Given the description of an element on the screen output the (x, y) to click on. 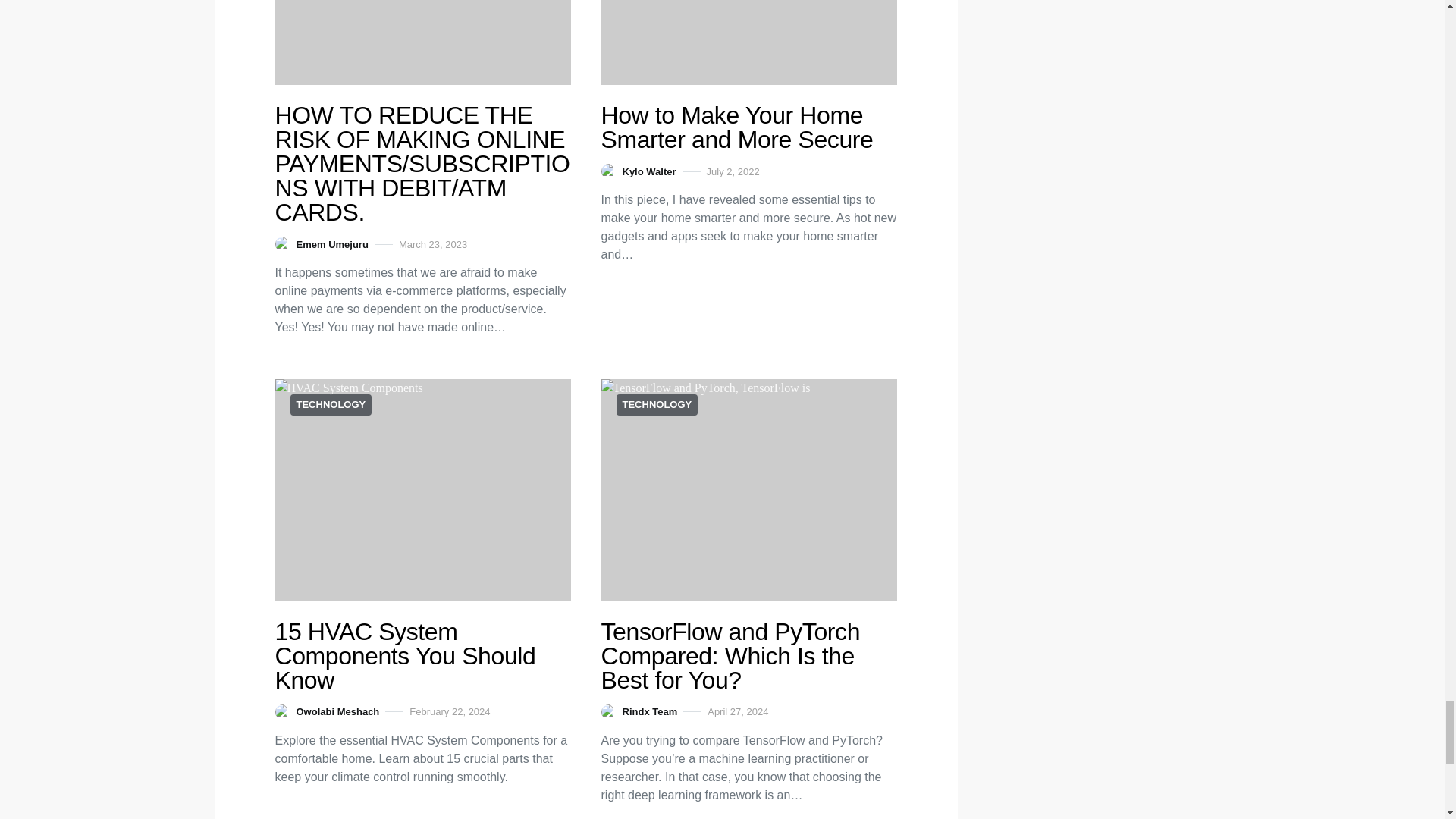
Software Sales Recruiters (422, 42)
Software Sales Recruiters (747, 42)
View all posts by Rindx Team (638, 711)
View all posts by Owolabi Meshach (326, 711)
View all posts by Kylo Walter (637, 171)
View all posts by Emem Umejuru (321, 243)
Software Sales Recruiters (747, 490)
Software Sales Recruiters (422, 490)
